Given the description of an element on the screen output the (x, y) to click on. 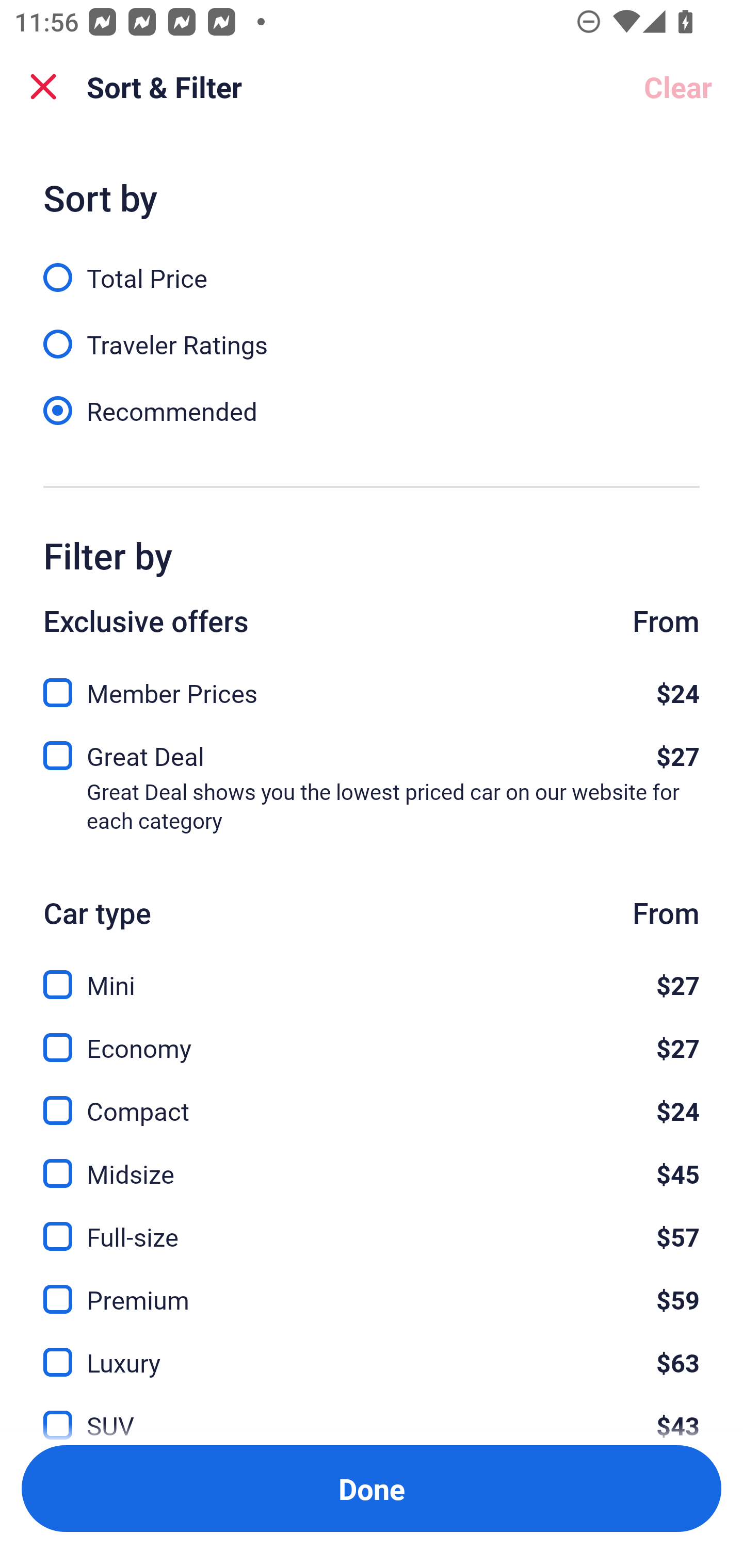
Close Sort and Filter (43, 86)
Clear (677, 86)
Total Price (371, 266)
Traveler Ratings (371, 332)
Member Prices, $24 Member Prices $24 (371, 686)
Mini, $27 Mini $27 (371, 973)
Economy, $27 Economy $27 (371, 1036)
Compact, $24 Compact $24 (371, 1098)
Midsize, $45 Midsize $45 (371, 1161)
Full-size, $57 Full-size $57 (371, 1224)
Premium, $59 Premium $59 (371, 1286)
Luxury, $63 Luxury $63 (371, 1350)
SUV, $43 SUV $43 (371, 1413)
Apply and close Sort and Filter Done (371, 1488)
